Given the description of an element on the screen output the (x, y) to click on. 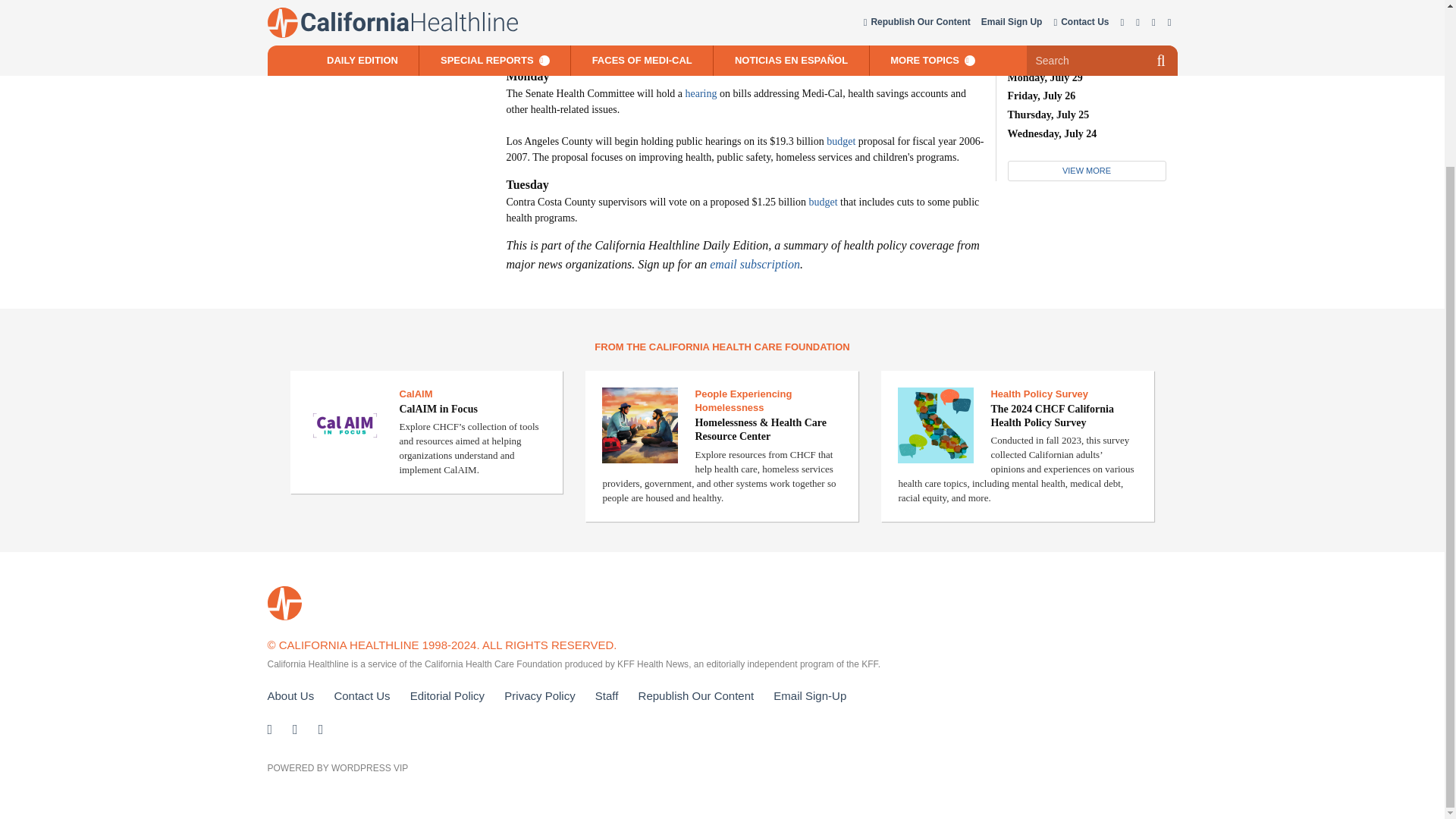
Friday, July 26 (1041, 95)
California Healthline (283, 602)
budget (822, 202)
Tuesday, July 30 (1044, 58)
hearing (701, 93)
Today, July 31 (1039, 40)
Monday, July 29 (1044, 77)
budget (841, 141)
Thursday, July 25 (1048, 114)
email subscription (754, 264)
